Given the description of an element on the screen output the (x, y) to click on. 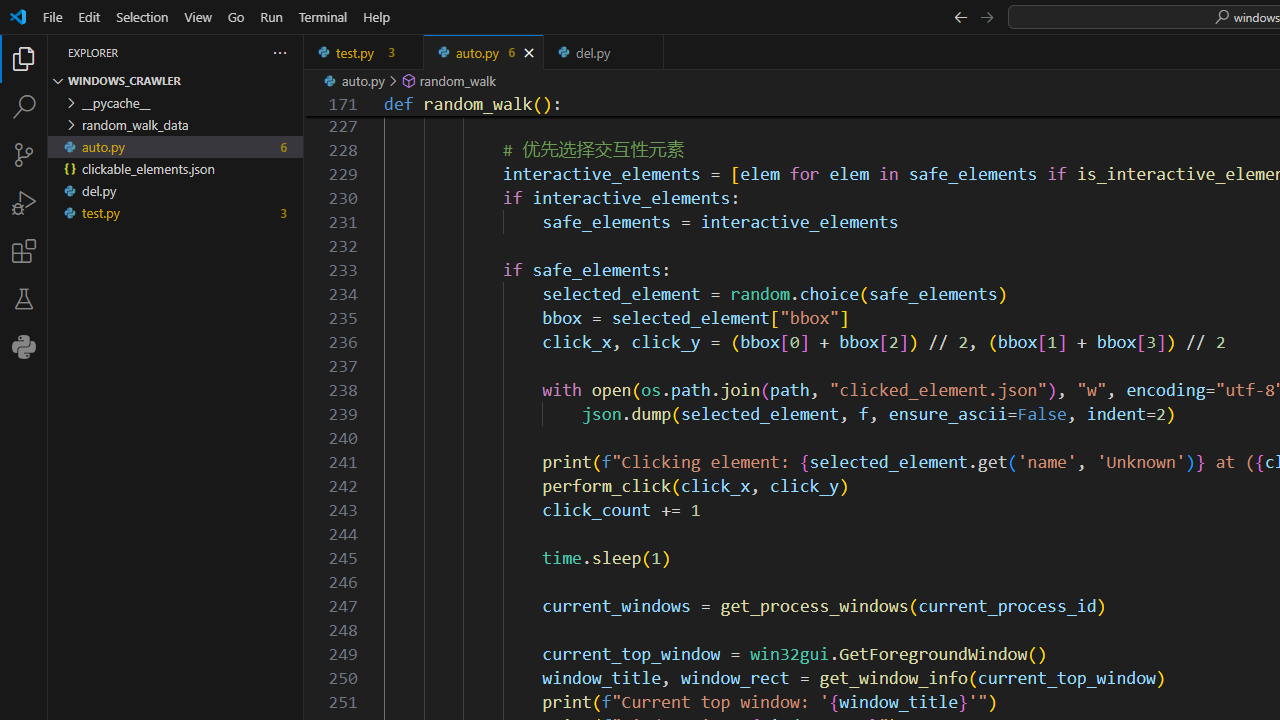
Terminal (322, 16)
Run (271, 16)
test.py (363, 52)
Explorer Section: windows_crawler (175, 80)
Views and More Actions... (279, 52)
File (52, 16)
Edit (89, 16)
Source Control (Ctrl+Shift+G) (24, 155)
del.py (604, 52)
Testing (24, 299)
Close (Ctrl+F4) (648, 52)
Selection (141, 16)
